Given the description of an element on the screen output the (x, y) to click on. 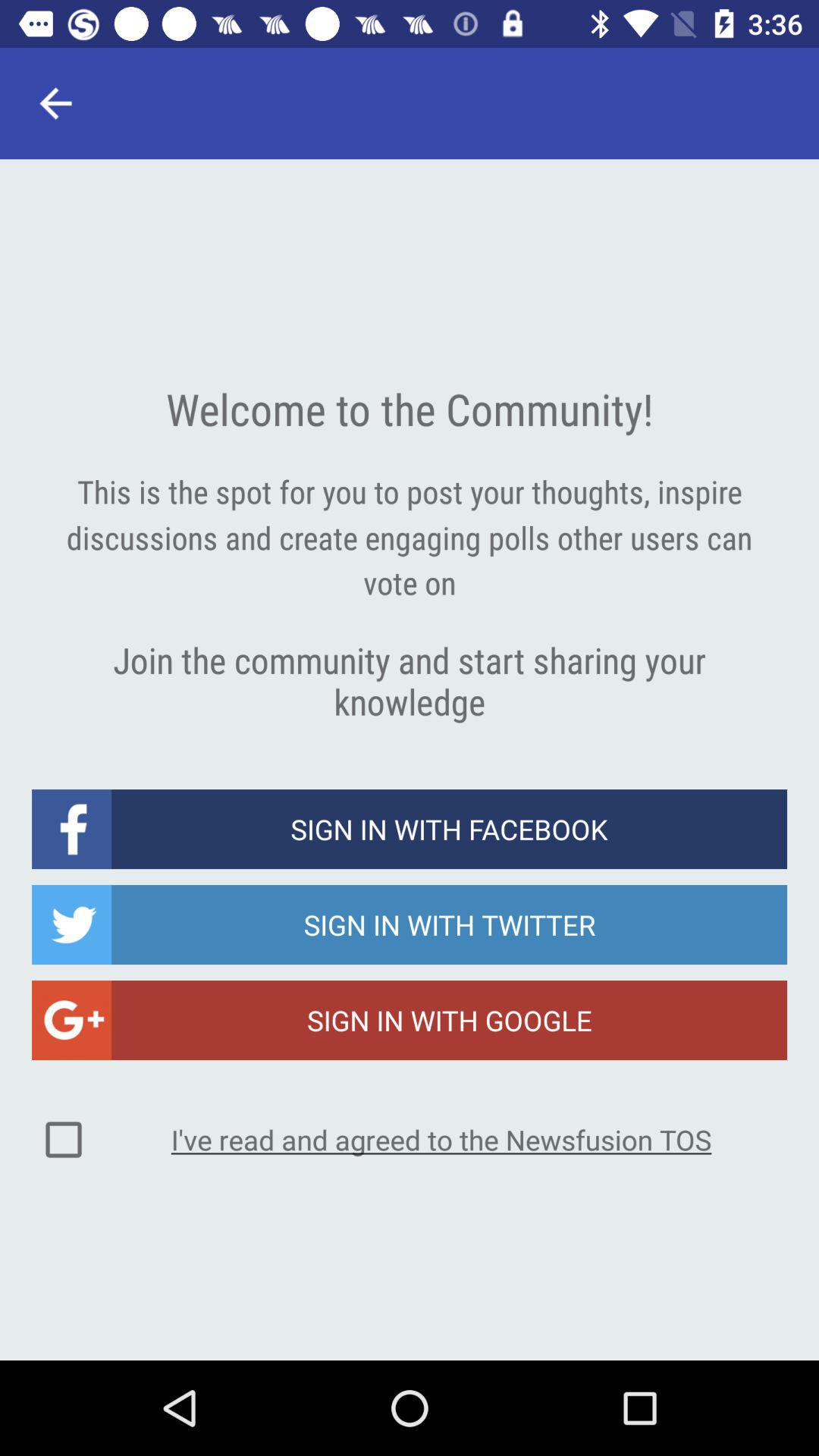
launch item next to the i ve read icon (63, 1139)
